Given the description of an element on the screen output the (x, y) to click on. 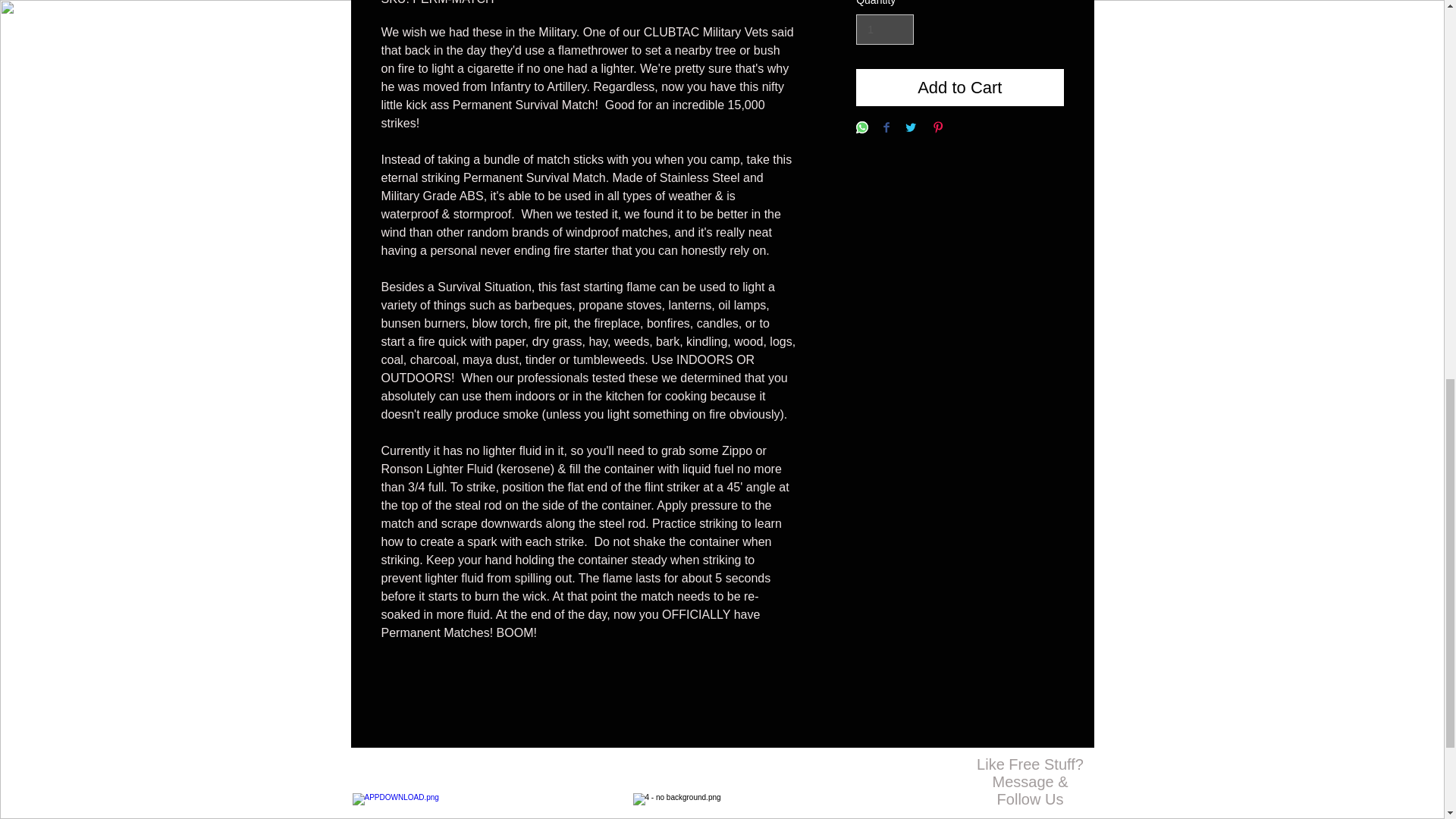
Add to Cart (959, 87)
1 (885, 29)
